Given the description of an element on the screen output the (x, y) to click on. 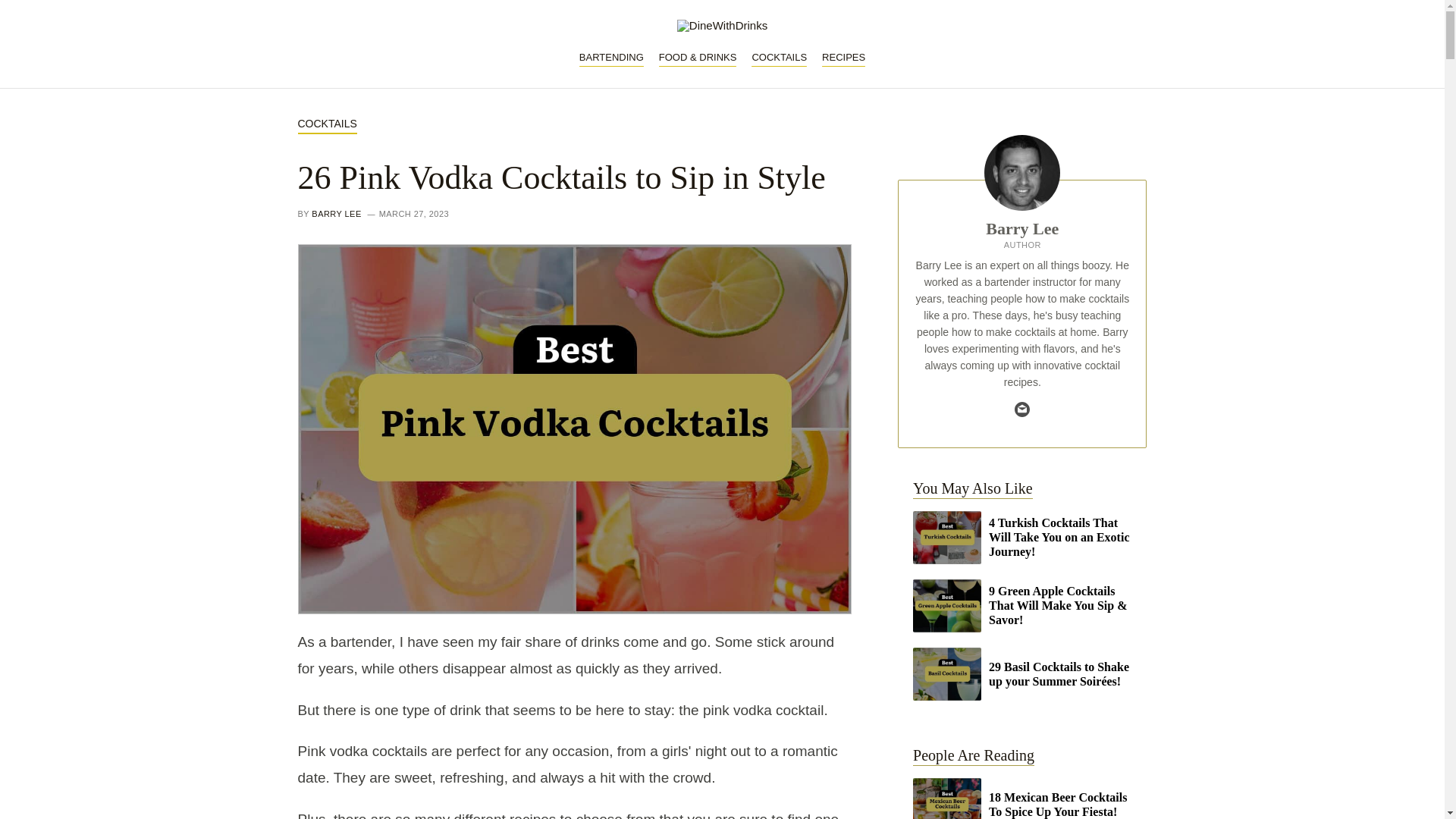
BARRY LEE (336, 213)
COCKTAILS (326, 124)
COCKTAILS (778, 57)
BARTENDING (611, 57)
RECIPES (843, 57)
